Given the description of an element on the screen output the (x, y) to click on. 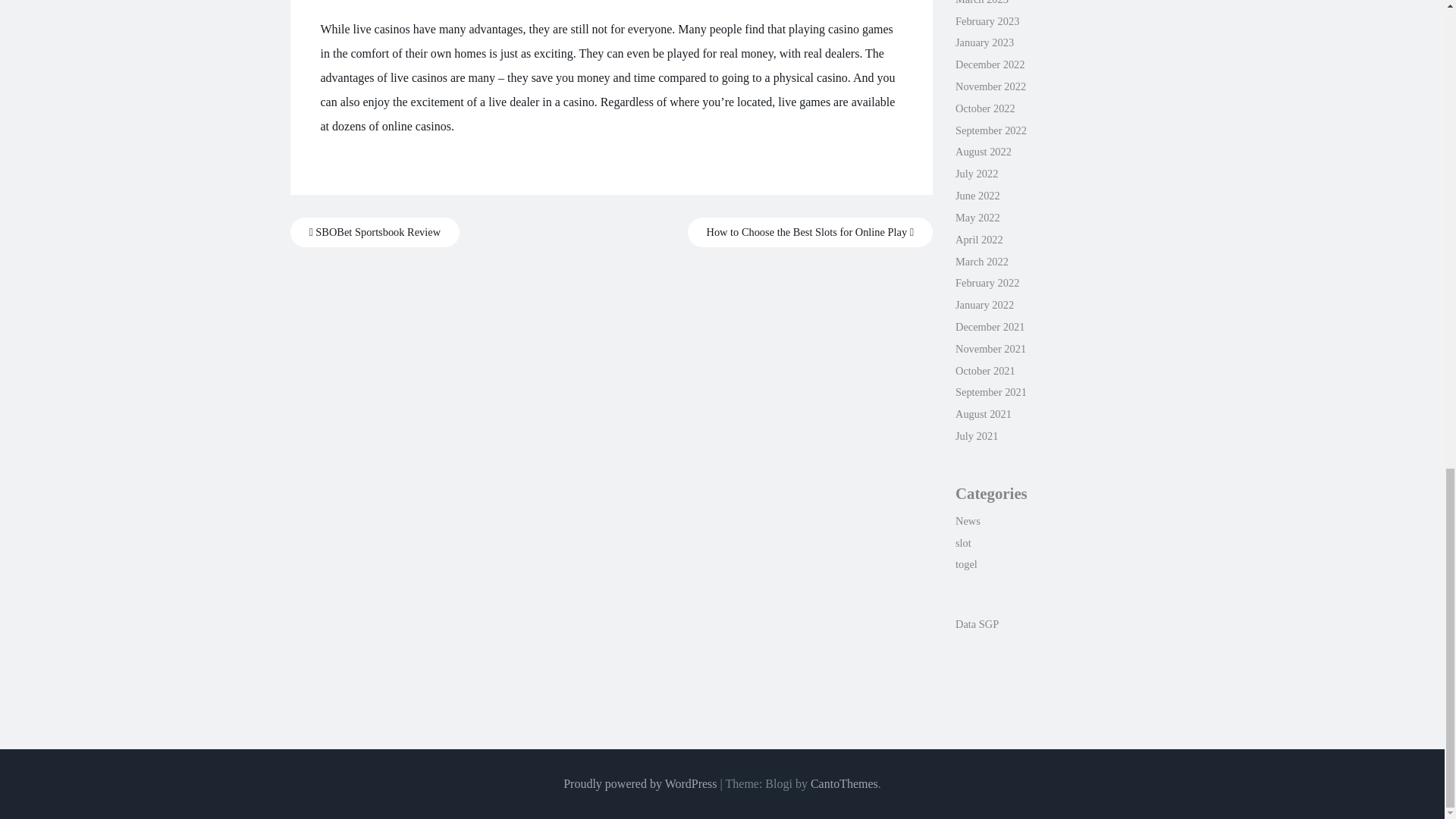
February 2023 (987, 21)
December 2022 (990, 64)
March 2023 (982, 2)
November 2022 (990, 86)
SBOBet Sportsbook Review (374, 232)
January 2023 (984, 42)
October 2022 (984, 108)
August 2022 (983, 151)
September 2022 (990, 130)
How to Choose the Best Slots for Online Play (810, 232)
